Given the description of an element on the screen output the (x, y) to click on. 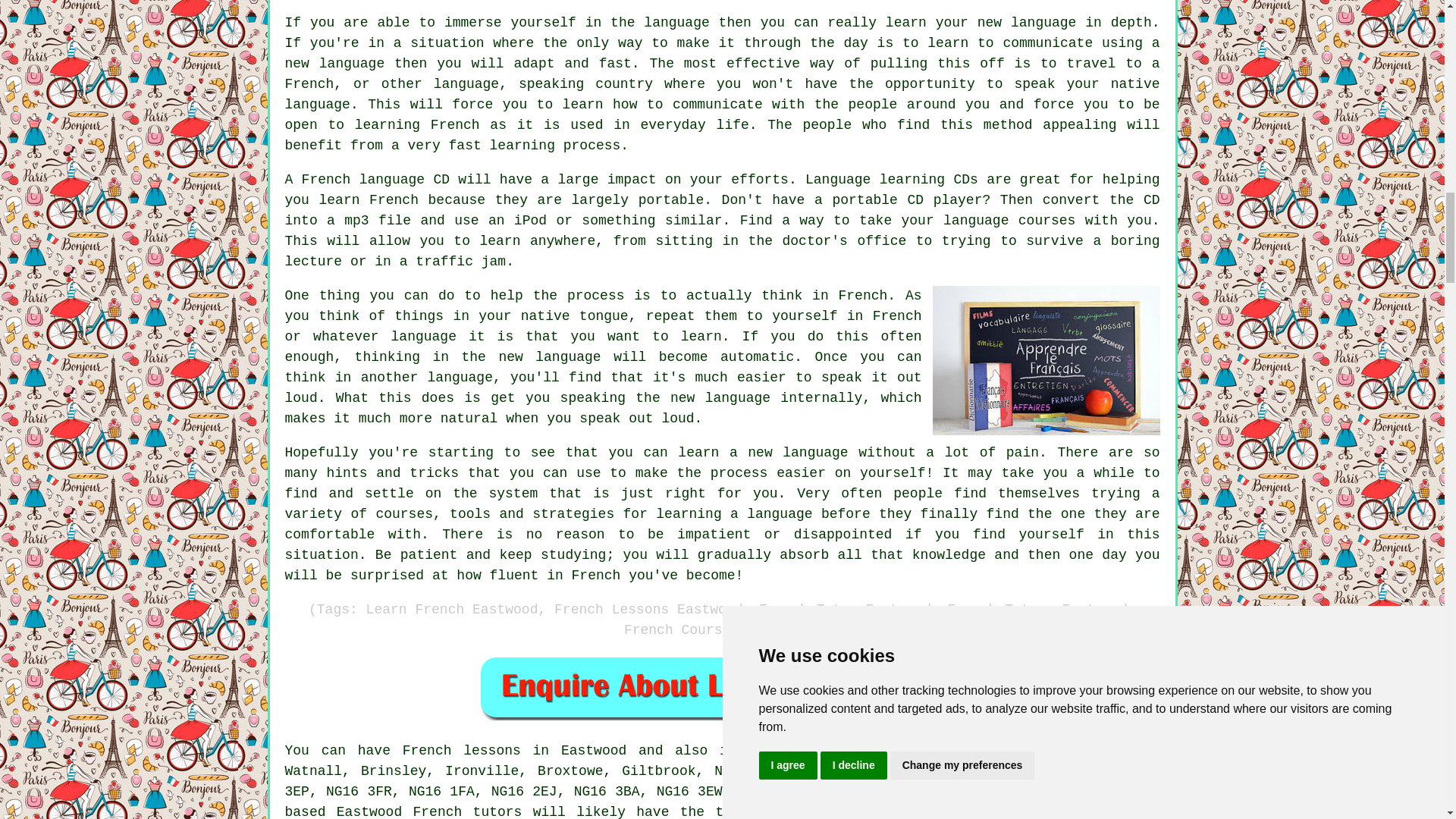
French lessons (462, 750)
Book French Lessons in Eastwood UK (722, 687)
French tutors (466, 811)
French Teachers Eastwood Nottinghamshire (1046, 359)
